Given the description of an element on the screen output the (x, y) to click on. 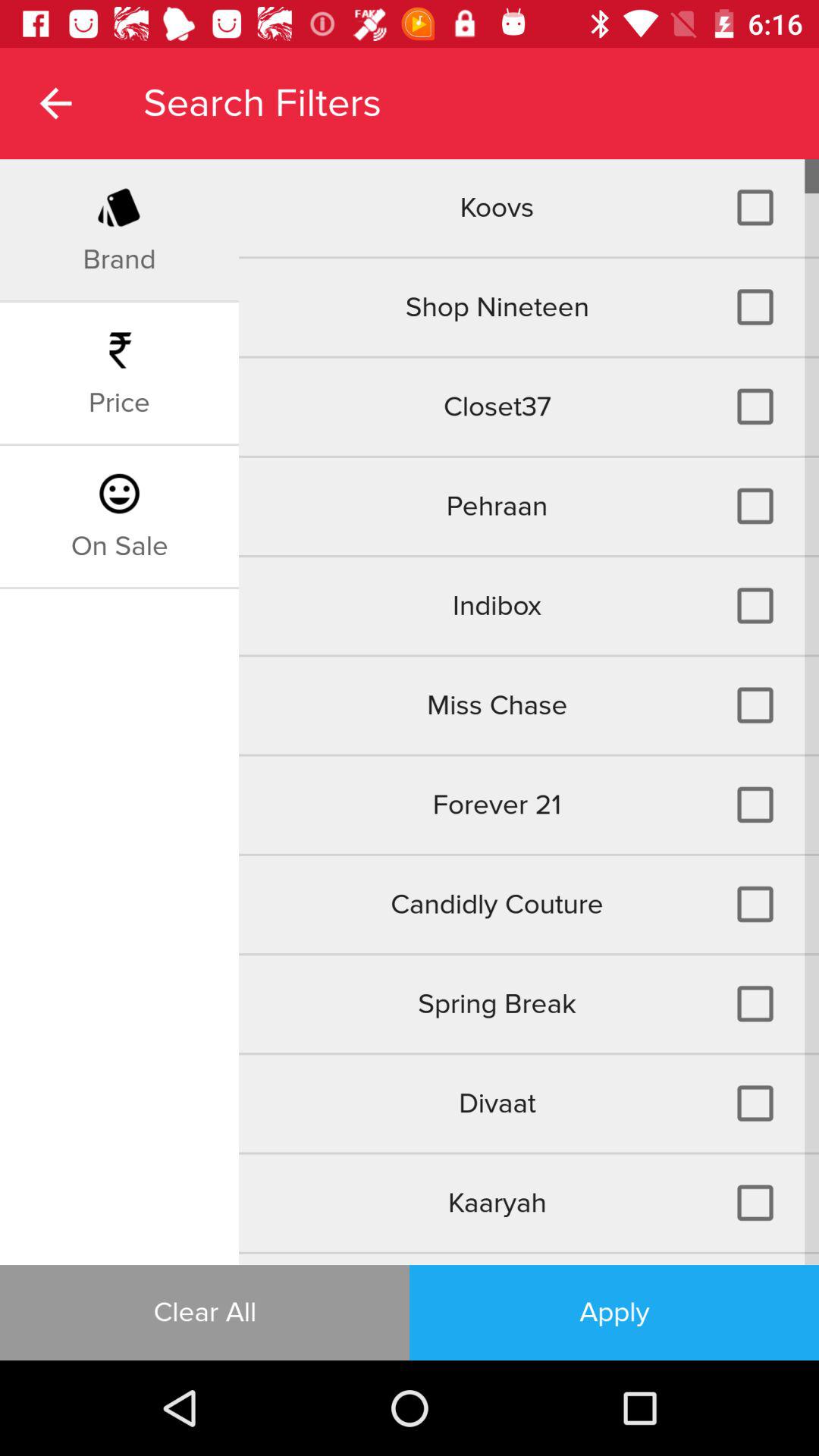
turn off the icon at the bottom right corner (614, 1312)
